Given the description of an element on the screen output the (x, y) to click on. 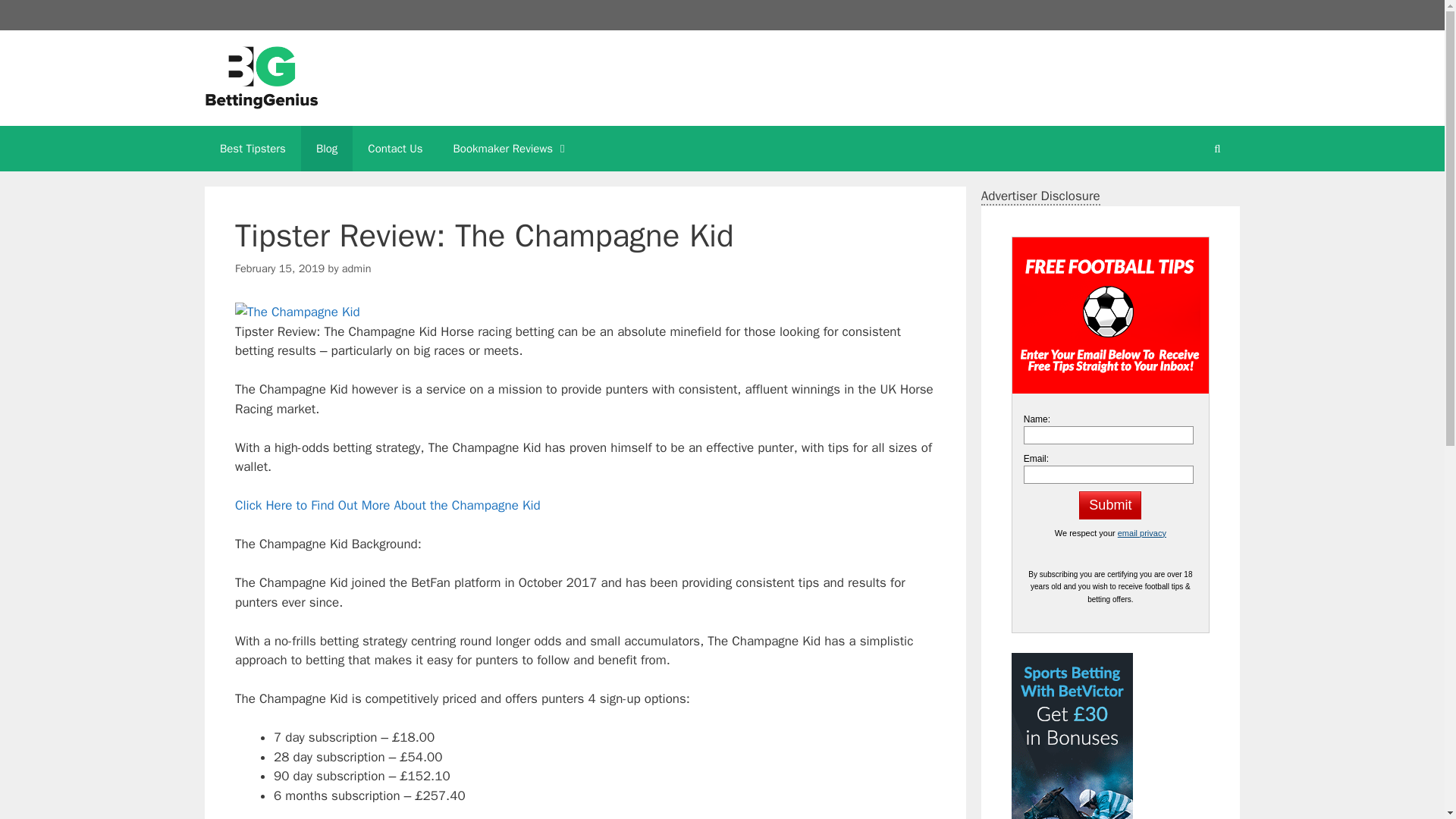
Search (35, 18)
Best Tipsters (253, 148)
Privacy Policy (1142, 532)
email privacy (1142, 532)
admin (356, 268)
Bookmaker Reviews (511, 148)
Submit (1109, 505)
Submit (1109, 505)
Contact Us (395, 148)
Click Here to Find Out More About the Champagne Kid (387, 505)
